Given the description of an element on the screen output the (x, y) to click on. 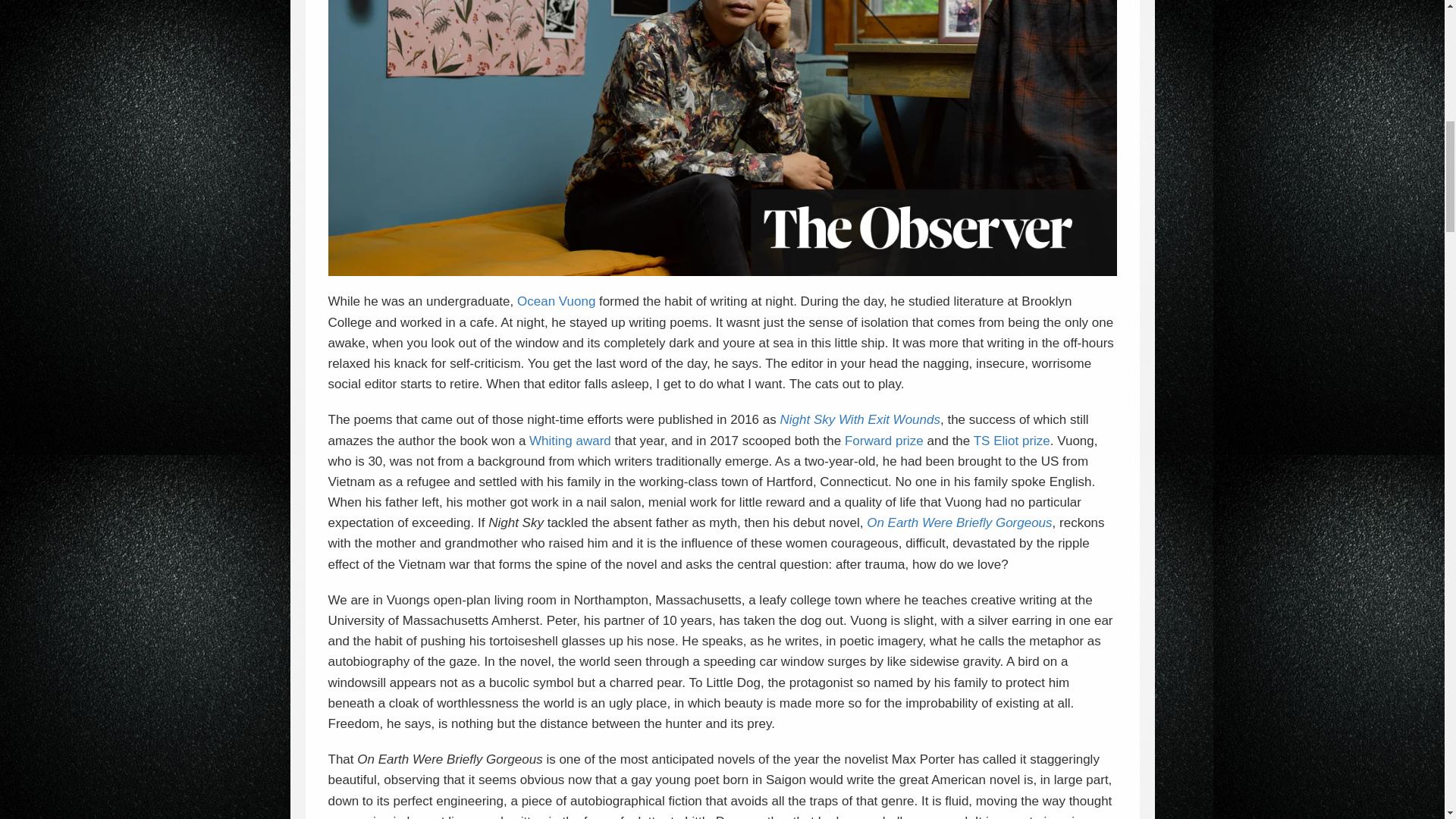
On Earth Were Briefly Gorgeous (958, 522)
Ocean Vuong (555, 301)
Whiting award (570, 440)
Forward prize (883, 440)
Night Sky With Exit Wounds (858, 419)
TS Eliot prize (1011, 440)
